Given the description of an element on the screen output the (x, y) to click on. 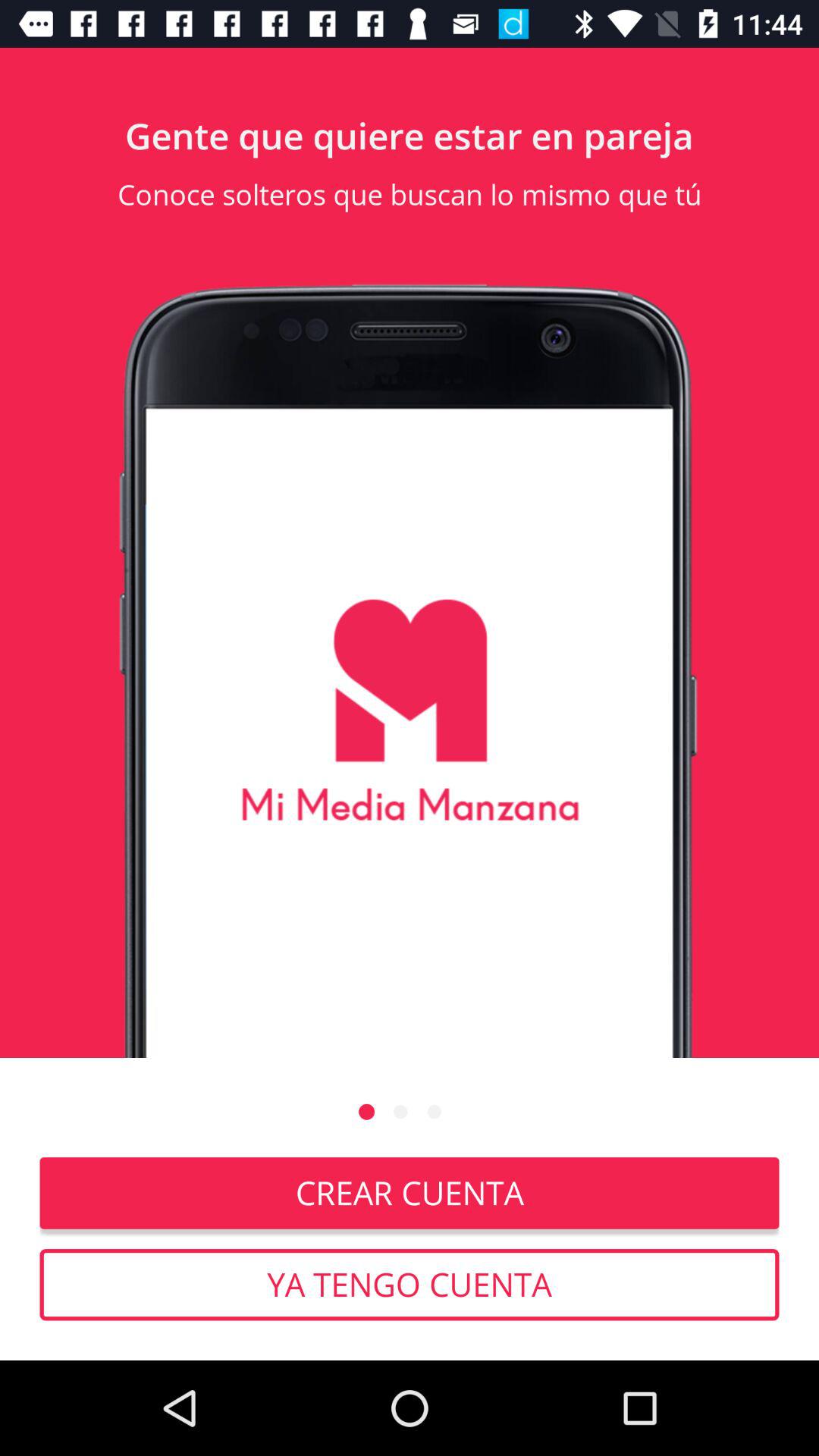
press icon below the crear cuenta item (409, 1284)
